Given the description of an element on the screen output the (x, y) to click on. 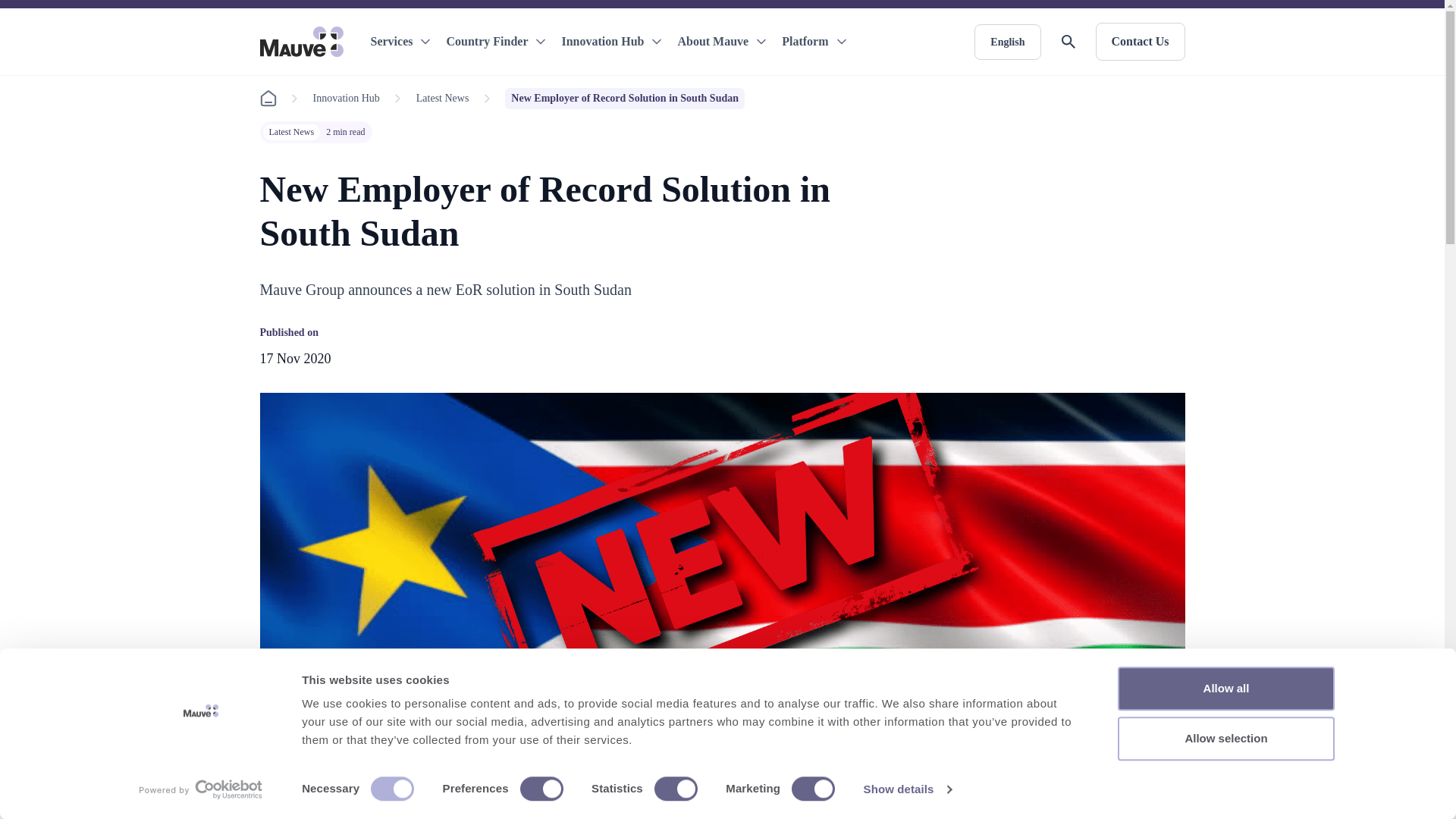
Tuesday 17 November 2020 at 09:19:07 GMT (294, 358)
Show details (907, 789)
